Given the description of an element on the screen output the (x, y) to click on. 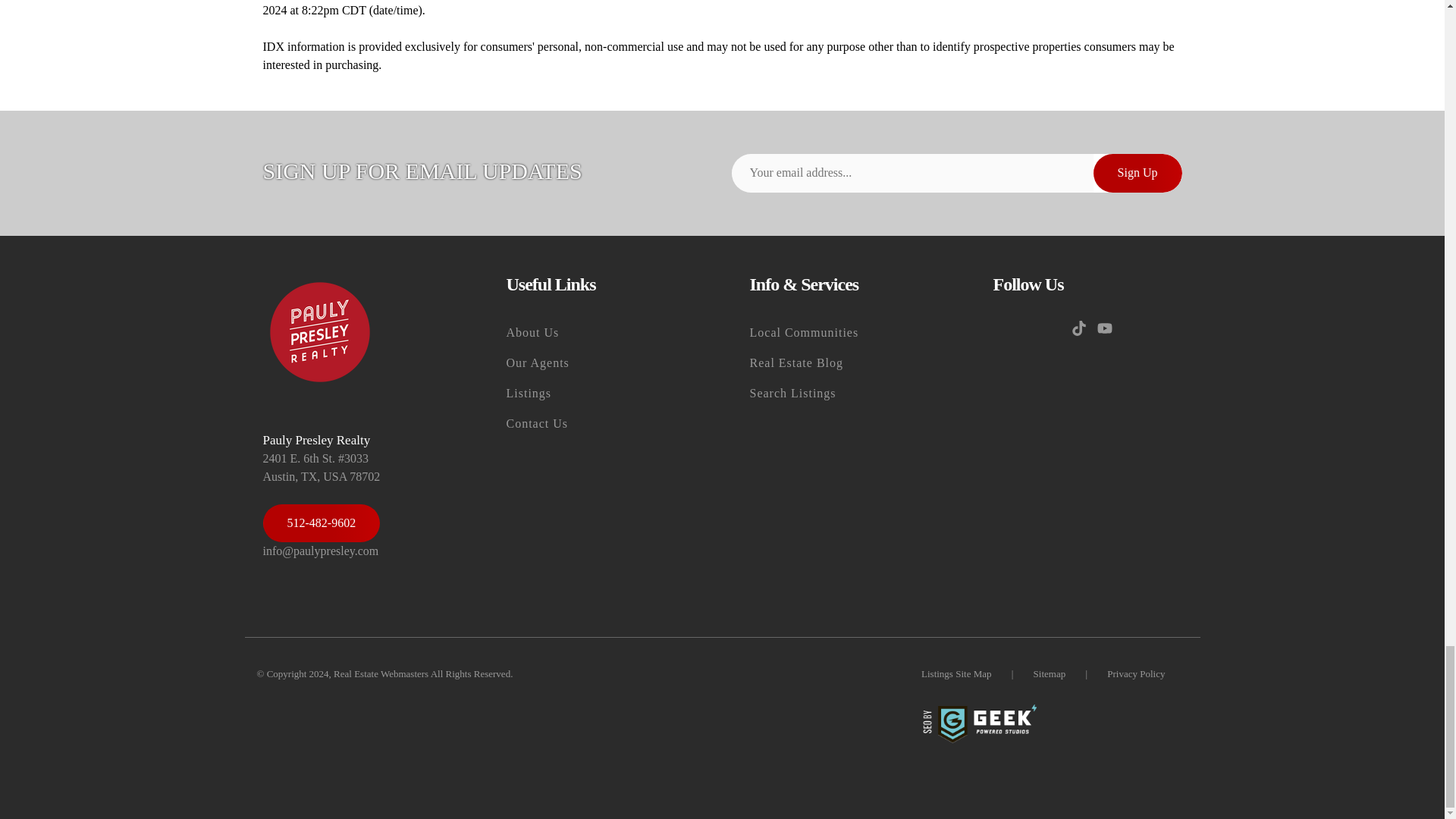
Site Logo (318, 332)
